Given the description of an element on the screen output the (x, y) to click on. 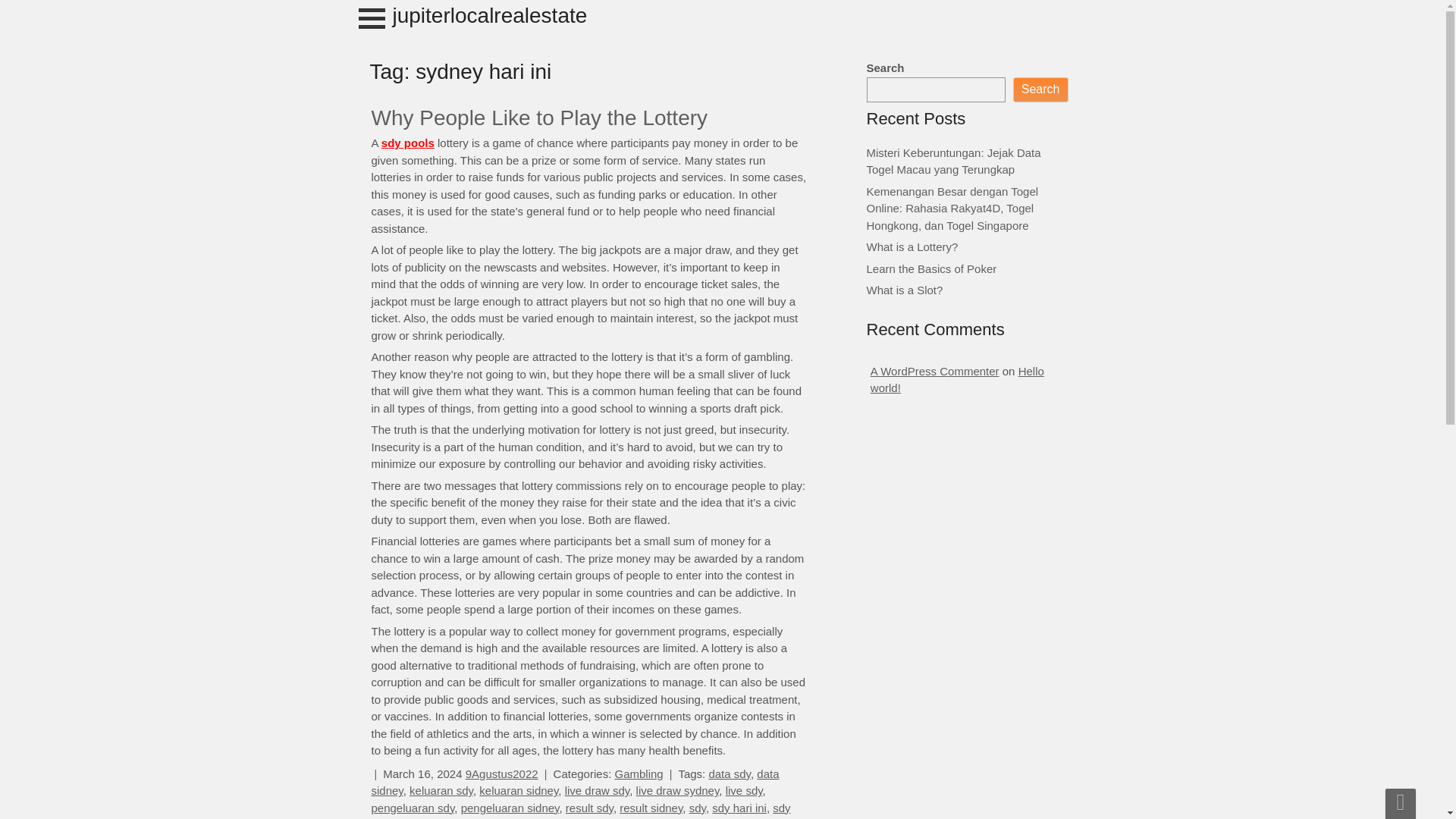
sdy hari ini (739, 807)
Search (1040, 89)
keluaran sidney (518, 789)
sydney hari ini (478, 818)
9Agustus2022 (501, 773)
pengeluaran sdy (412, 807)
sdy pools (407, 142)
data sidney (574, 782)
A WordPress Commenter (934, 369)
What is a Lottery? (912, 246)
Misteri Keberuntungan: Jejak Data Togel Macau yang Terungkap (953, 160)
What is a Slot? (904, 289)
result sidney (651, 807)
